Given the description of an element on the screen output the (x, y) to click on. 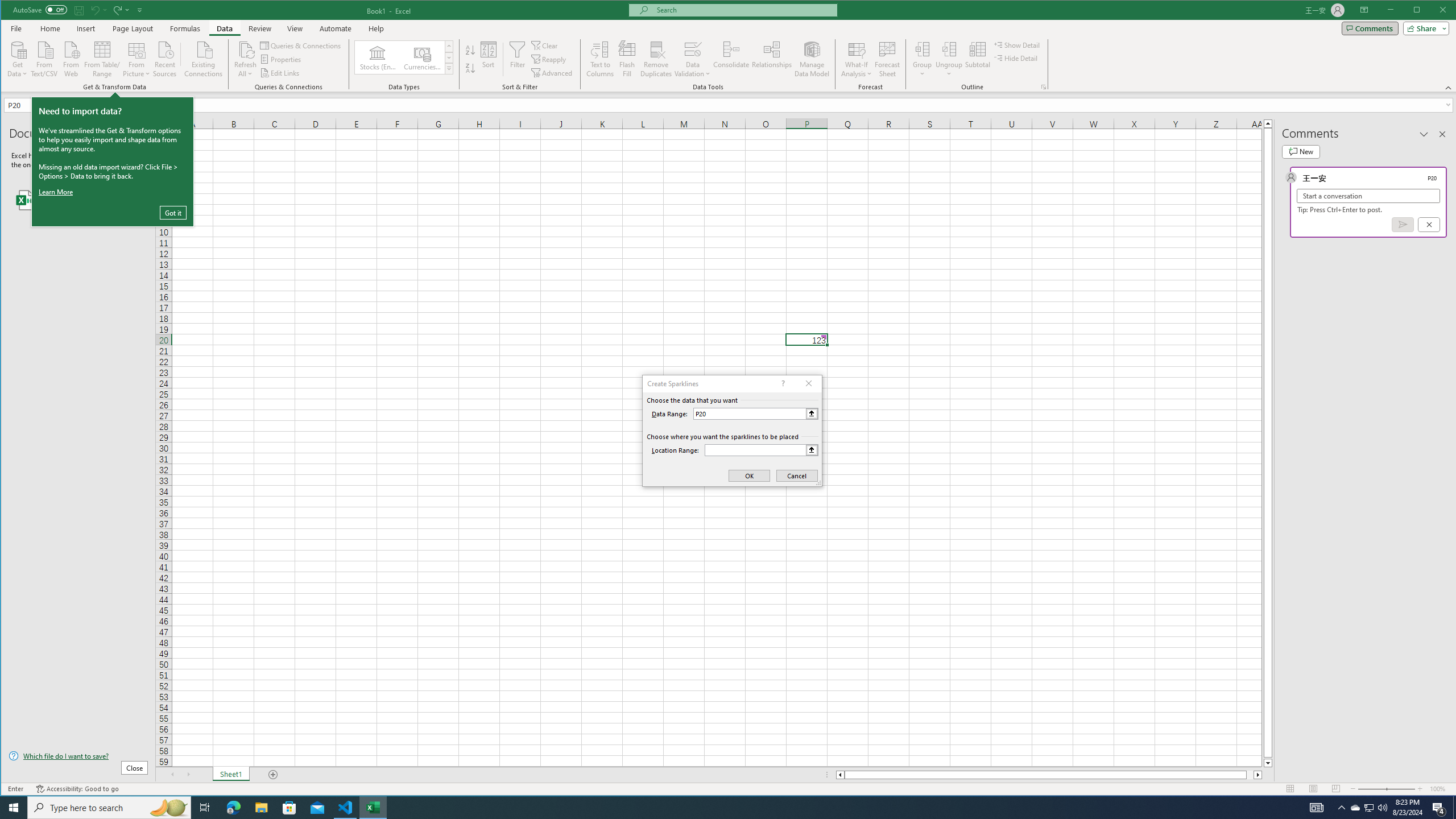
Help (376, 28)
Row Down (448, 57)
Forecast Sheet (887, 59)
Comments (1369, 28)
From Table/Range (102, 57)
Page Layout (1312, 788)
Group and Outline Settings (1043, 86)
Zoom Out (1372, 788)
Data Types (448, 68)
Redo (116, 9)
Insert (85, 28)
Filter (517, 59)
Existing Connections (203, 57)
